Given the description of an element on the screen output the (x, y) to click on. 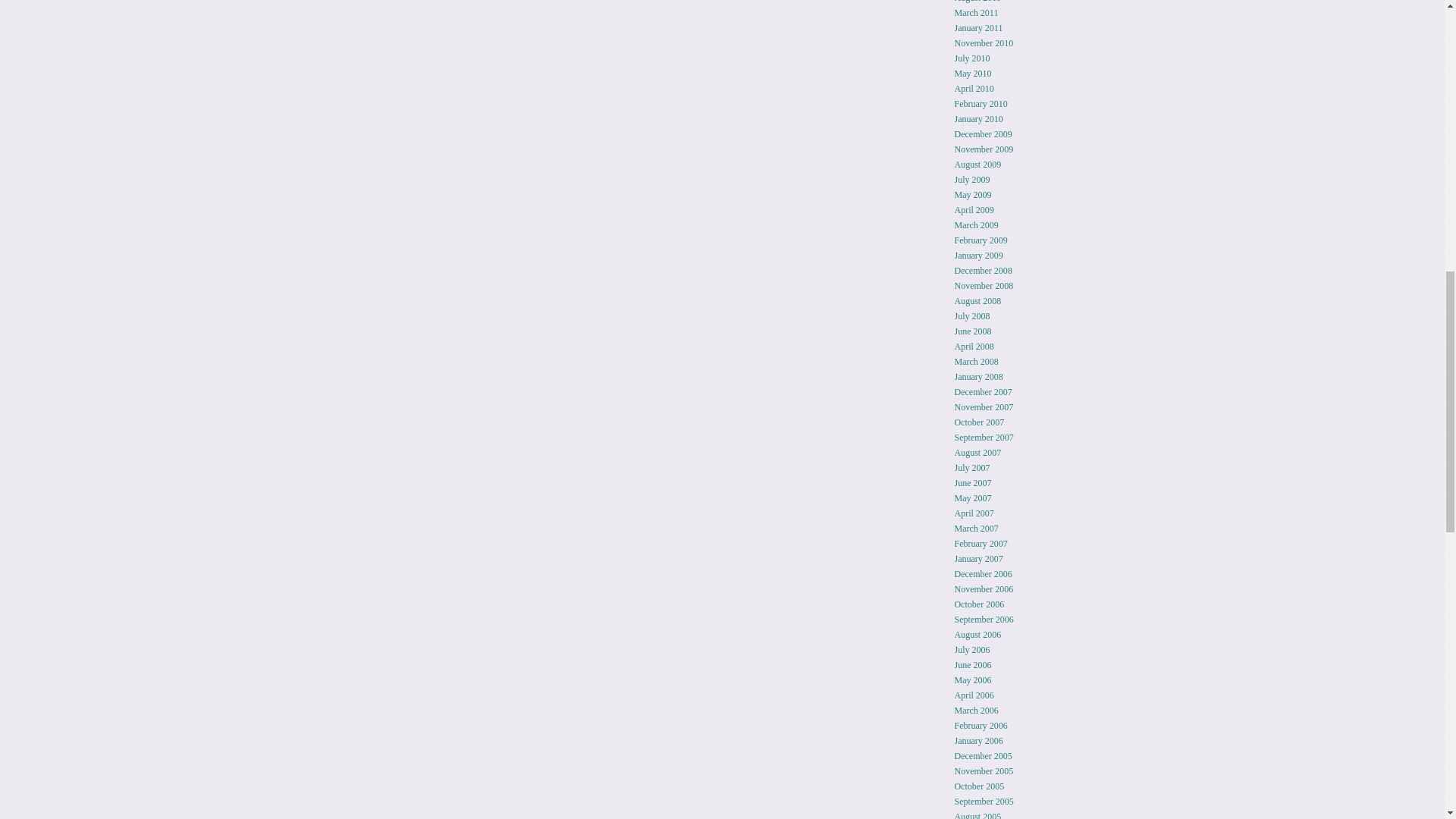
August 2011 (978, 1)
May 2010 (973, 72)
January 2011 (979, 27)
April 2010 (974, 88)
November 2010 (984, 42)
March 2011 (976, 12)
July 2010 (972, 58)
